Given the description of an element on the screen output the (x, y) to click on. 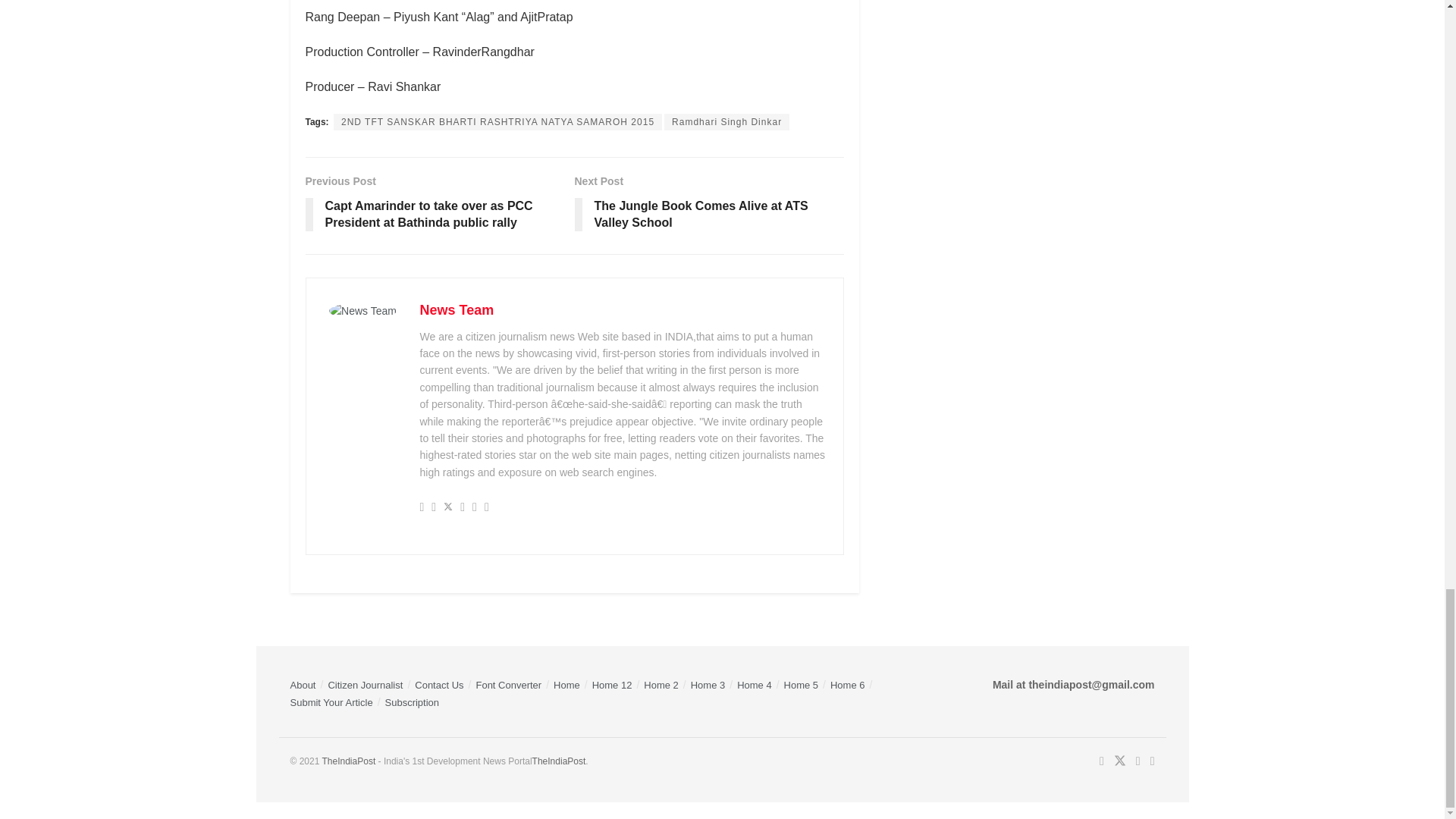
TheIndiaPost (559, 760)
India's 1st Development News Portal (348, 760)
